Given the description of an element on the screen output the (x, y) to click on. 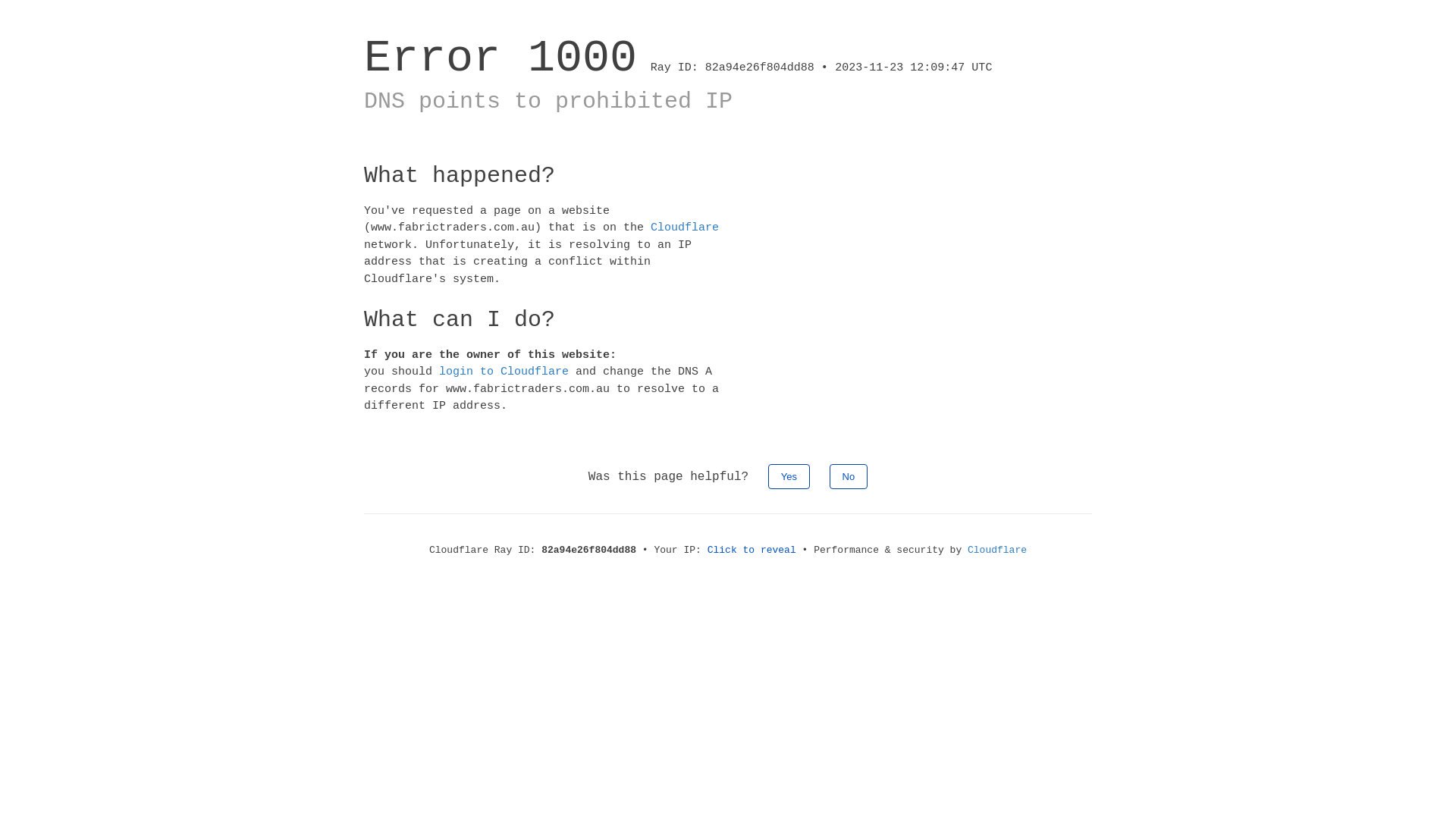
No Element type: text (848, 476)
Cloudflare Element type: text (684, 227)
Click to reveal Element type: text (751, 549)
login to Cloudflare Element type: text (503, 371)
Cloudflare Element type: text (996, 549)
Yes Element type: text (788, 476)
